Given the description of an element on the screen output the (x, y) to click on. 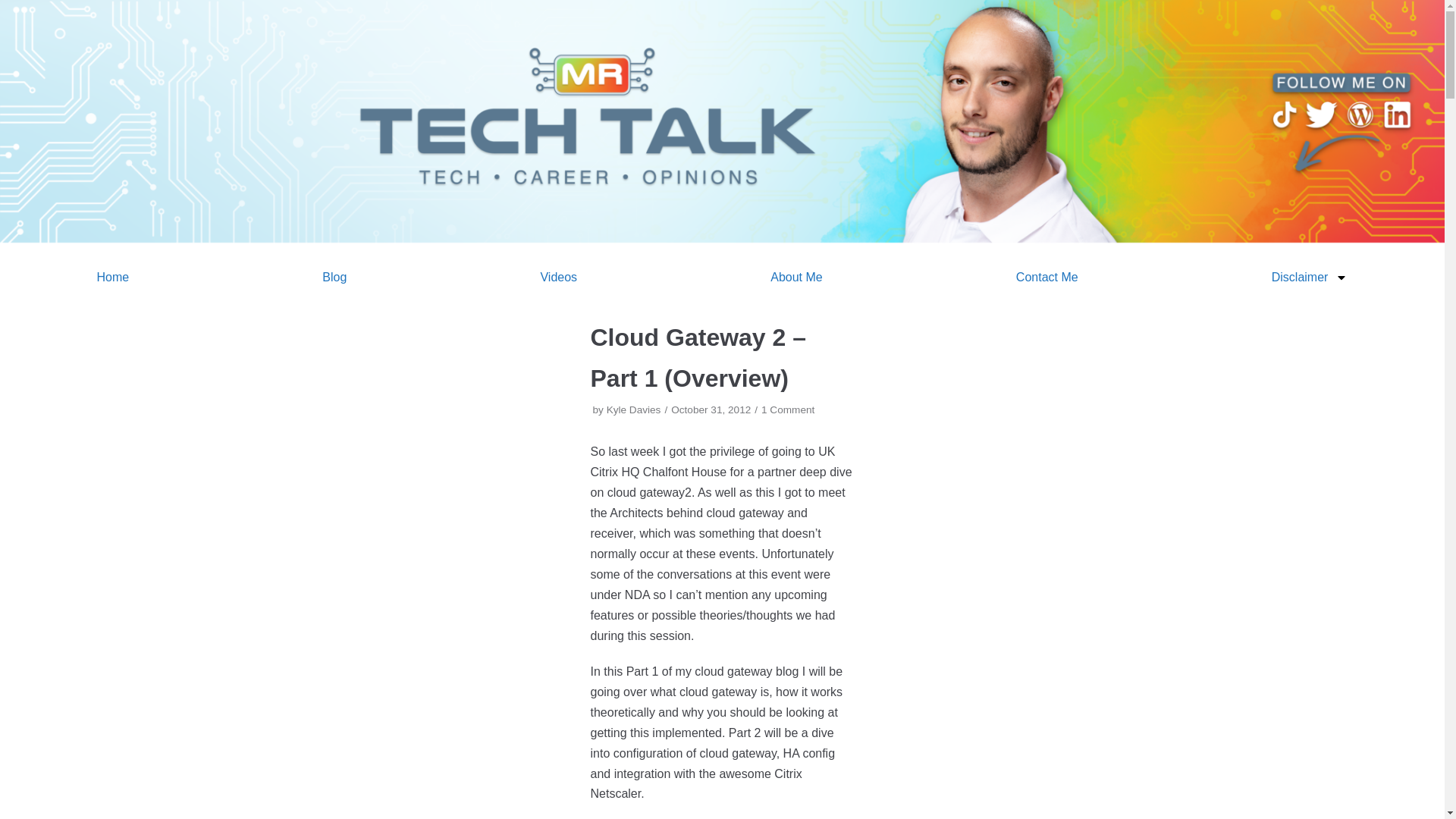
Posts by Kyle Davies (634, 409)
1 Comment (787, 409)
Videos (559, 277)
About Me (797, 277)
Blog (334, 277)
Contact Me (1046, 277)
Kyle Davies (634, 409)
Skip to content (15, 7)
Home (112, 277)
